Given the description of an element on the screen output the (x, y) to click on. 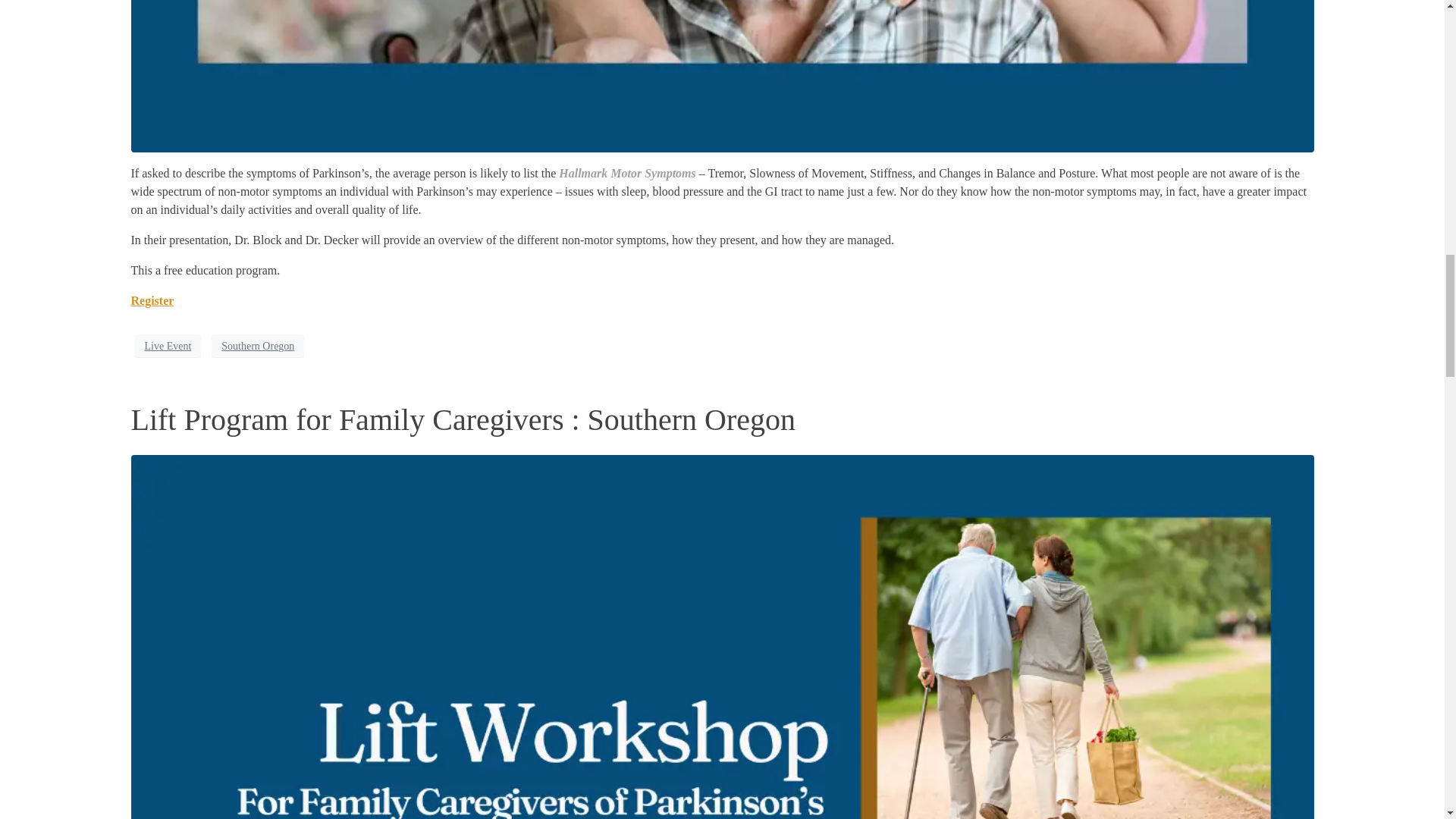
Lift Program for Family Caregivers : Southern Oregon (462, 419)
